Given the description of an element on the screen output the (x, y) to click on. 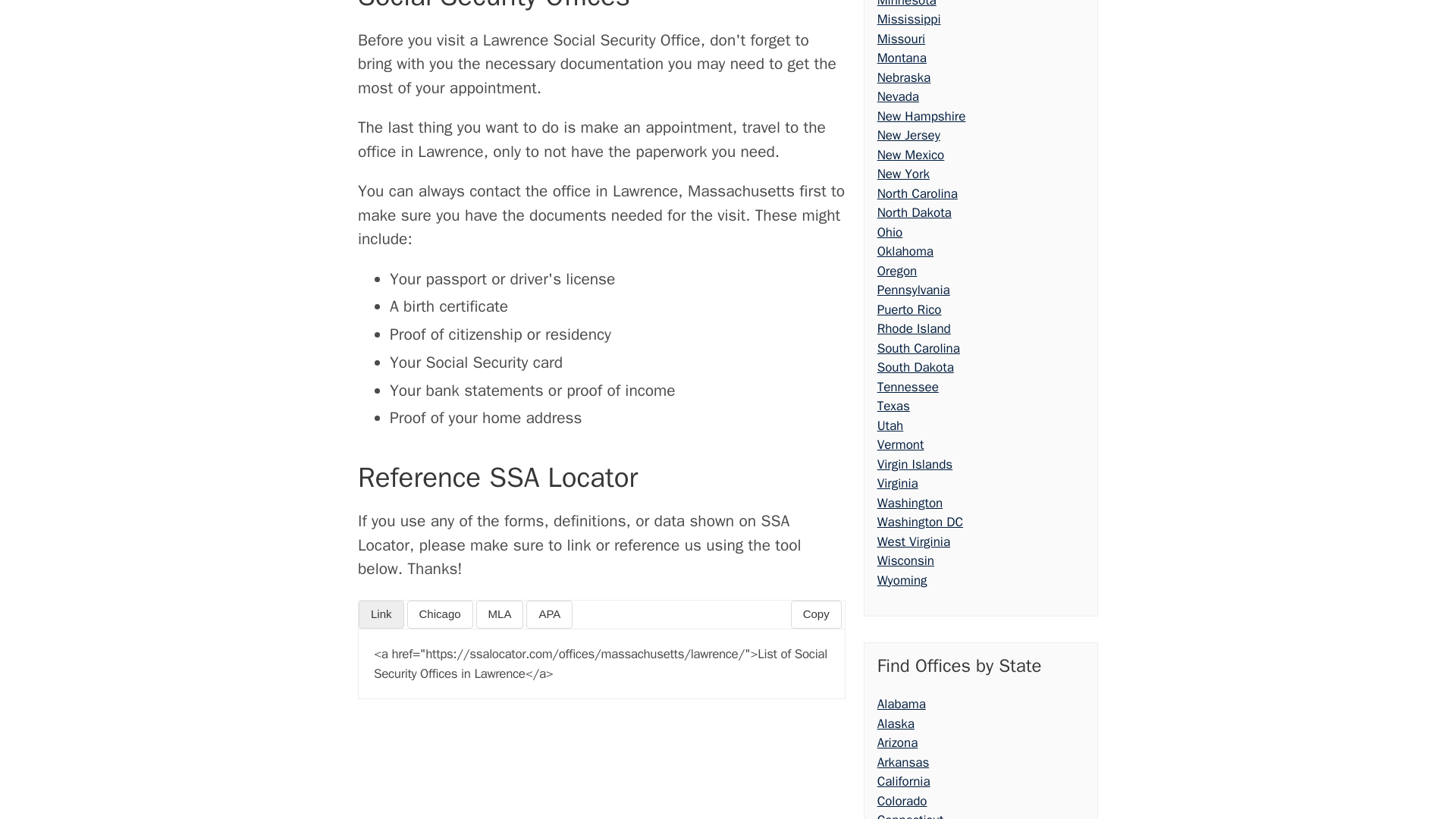
Montana (901, 57)
Mississippi (908, 19)
Copy (815, 614)
Minnesota (906, 4)
MLA (500, 614)
Link (381, 614)
Nebraska (904, 77)
APA (548, 614)
Chicago (440, 614)
Missouri (900, 37)
